Given the description of an element on the screen output the (x, y) to click on. 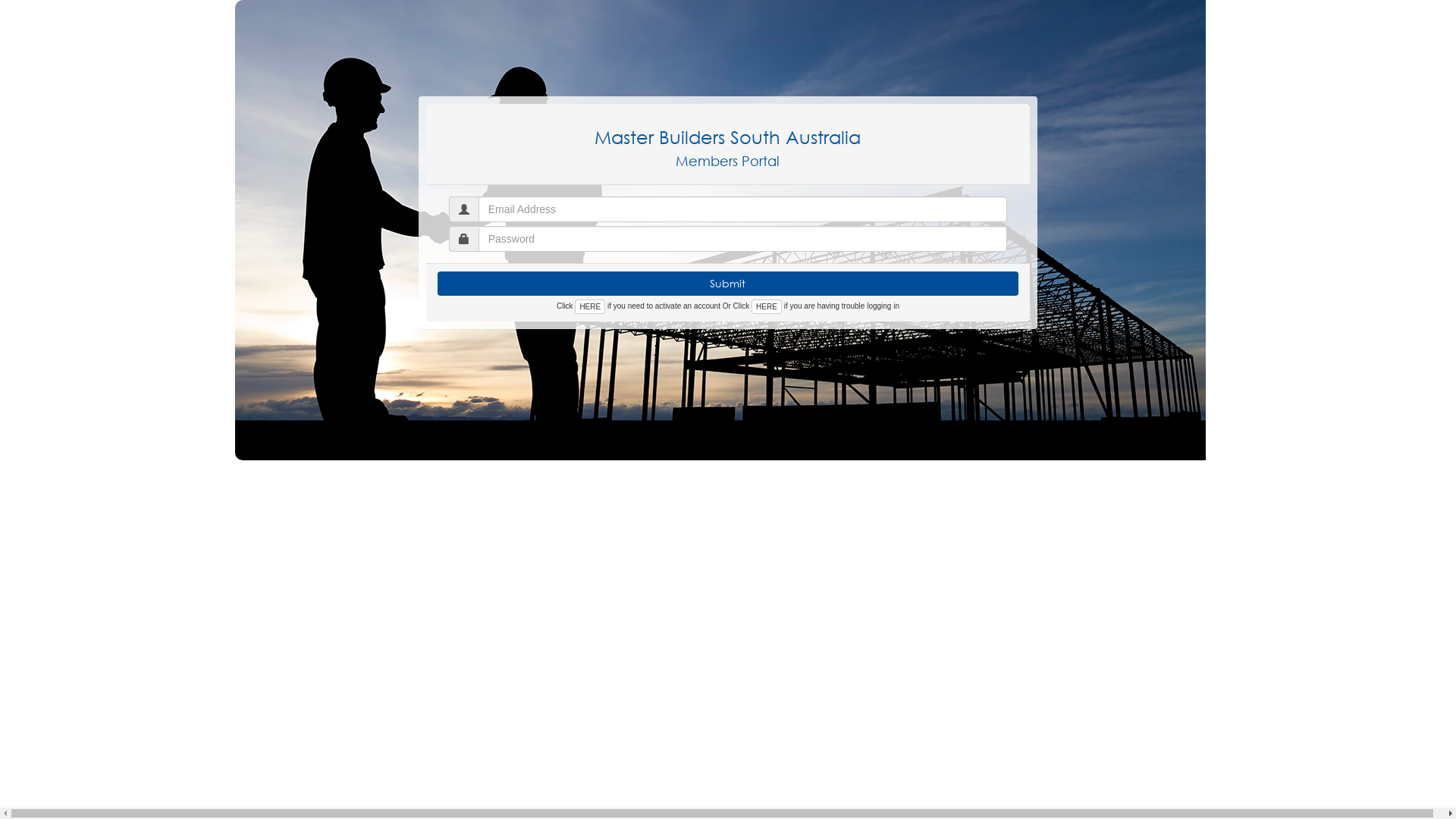
HERE Element type: text (766, 306)
HERE Element type: text (589, 306)
Submit Element type: text (728, 283)
